Given the description of an element on the screen output the (x, y) to click on. 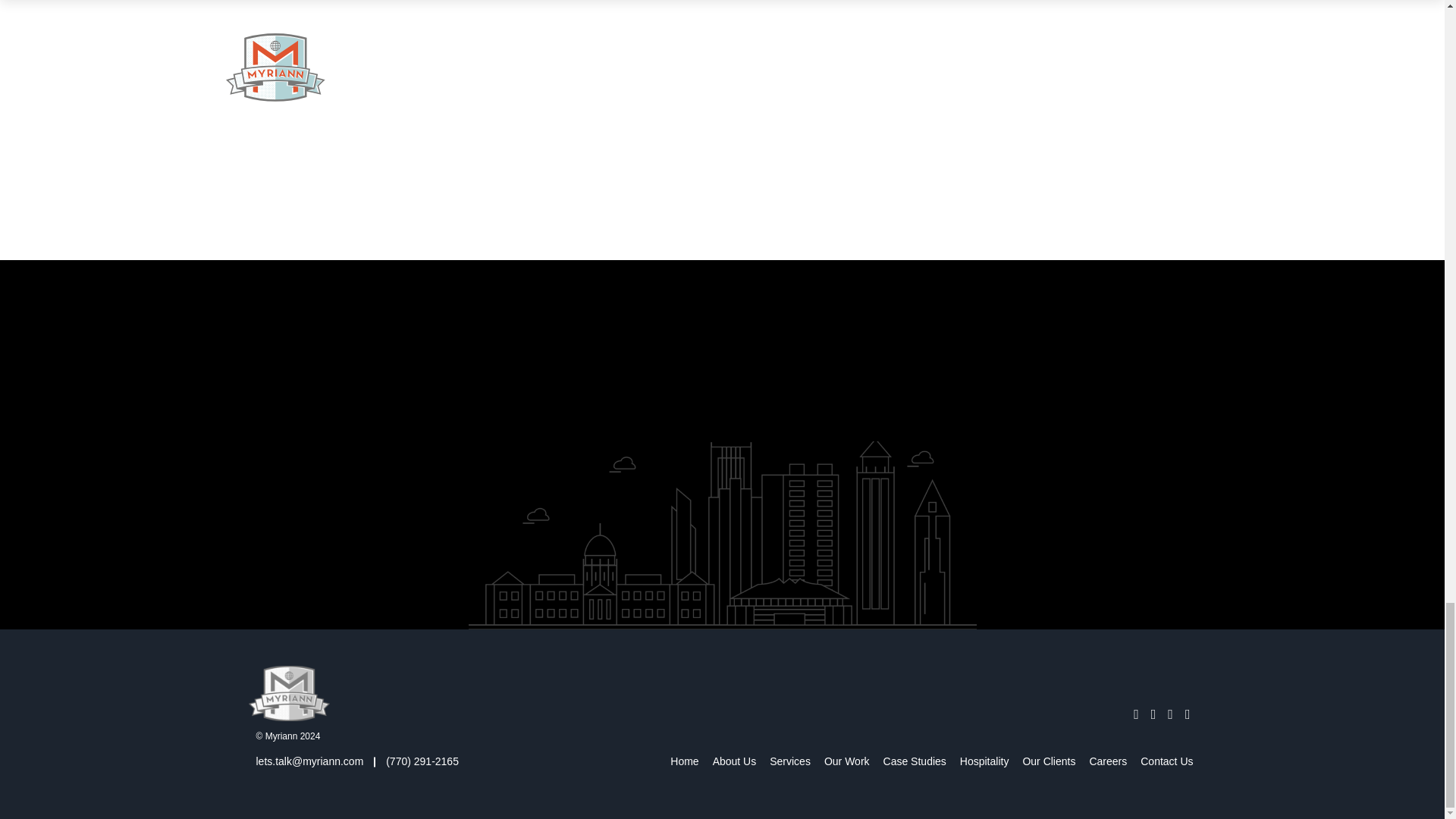
Home (683, 761)
About Us (734, 761)
Services (789, 761)
Case Studies (914, 761)
Contact Us (1166, 761)
Hospitality (984, 761)
Our Clients (1047, 761)
Our Work (846, 761)
Careers (1107, 761)
